Given the description of an element on the screen output the (x, y) to click on. 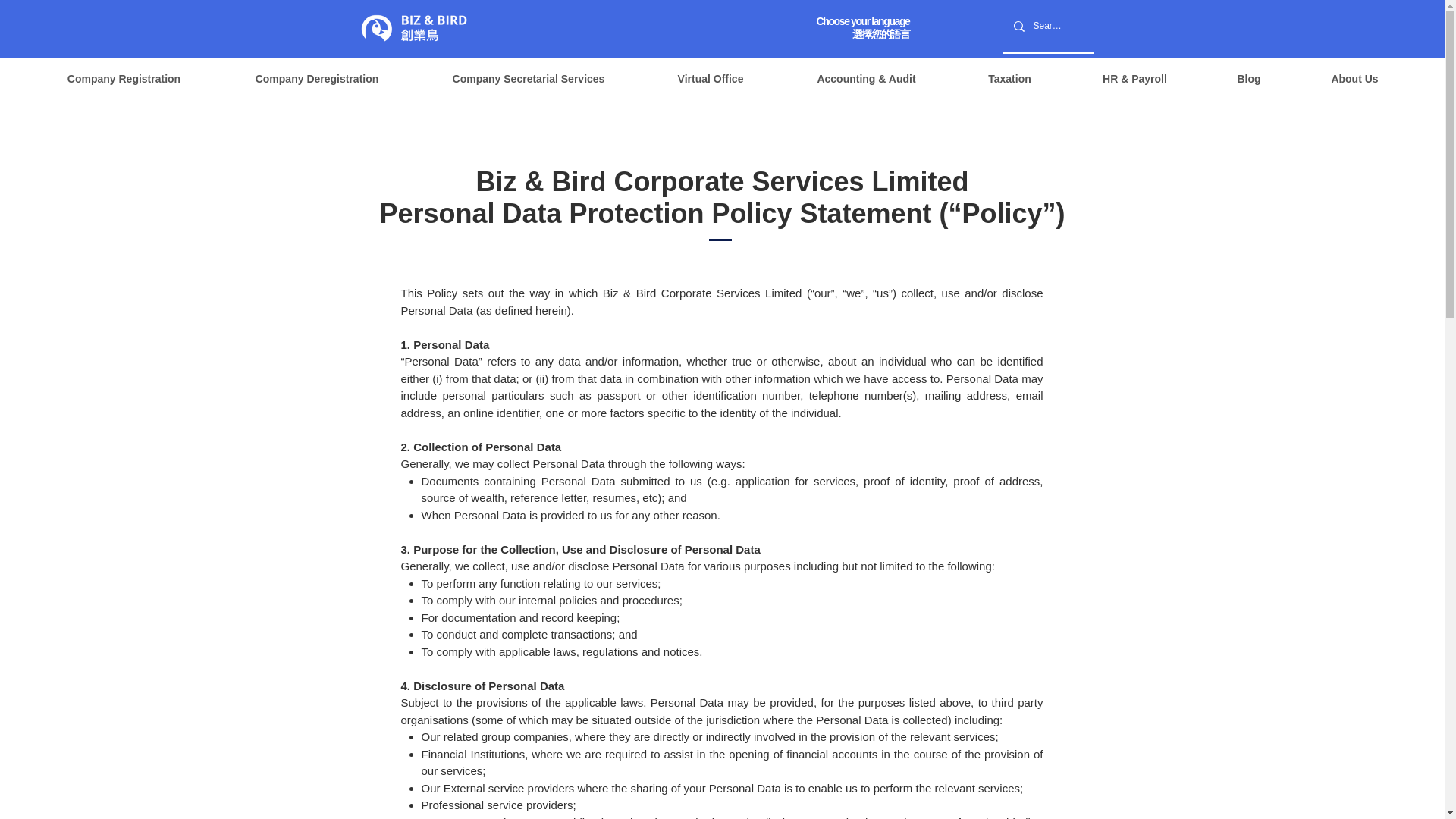
Company Secretarial Services (528, 78)
Company Deregistration (316, 78)
Taxation (1009, 78)
About Us (1354, 78)
Virtual Office (710, 78)
Blog (1248, 78)
Company Registration (123, 78)
